Given the description of an element on the screen output the (x, y) to click on. 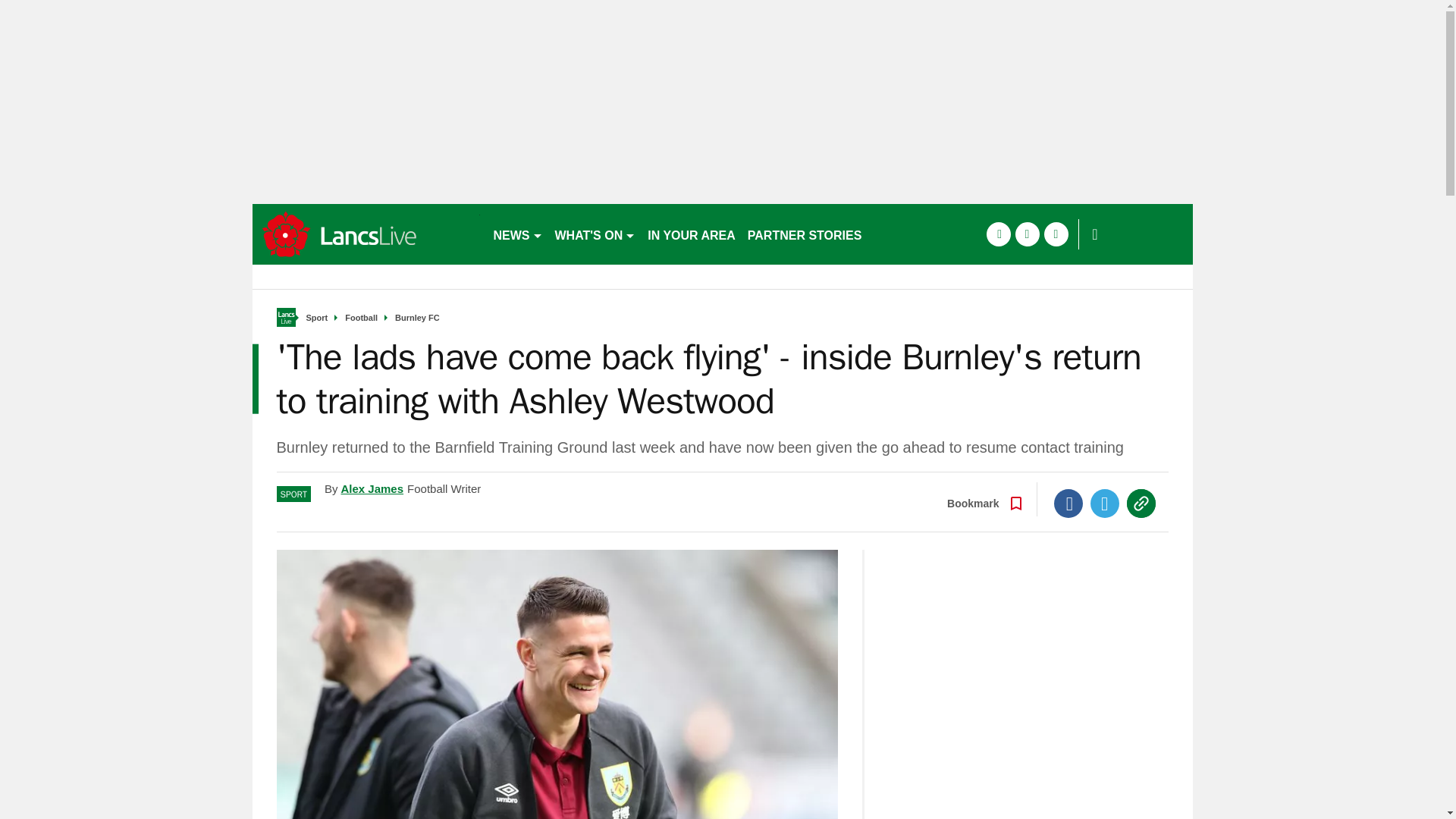
instagram (1055, 233)
IN YOUR AREA (691, 233)
accrington (365, 233)
NEWS (517, 233)
twitter (1026, 233)
facebook (997, 233)
Twitter (1104, 502)
Facebook (1068, 502)
WHAT'S ON (595, 233)
PARTNER STORIES (804, 233)
